Given the description of an element on the screen output the (x, y) to click on. 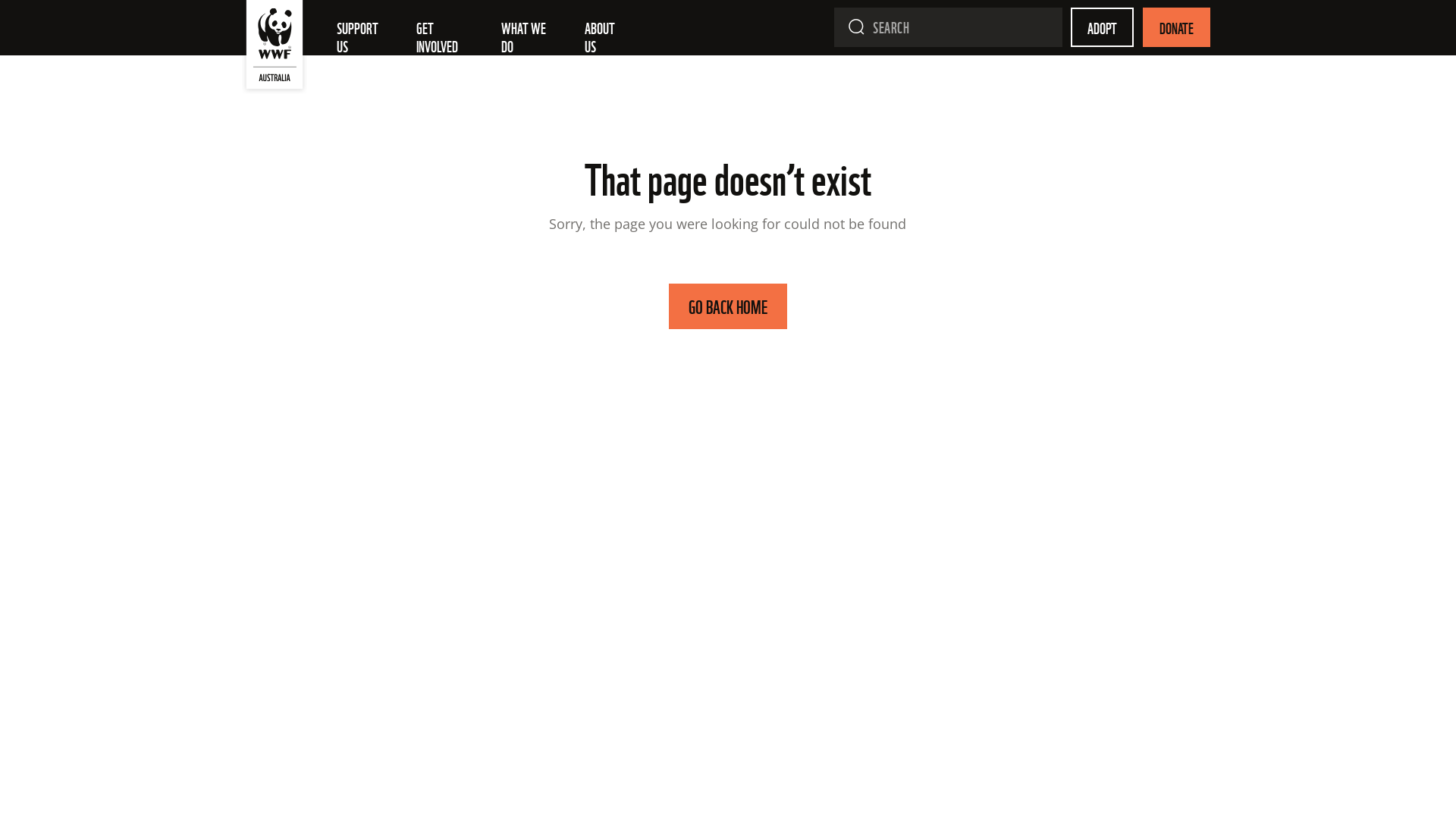
GO BACK HOME Element type: text (727, 306)
ABOUT US Element type: text (606, 36)
ADOPT Element type: text (1101, 27)
WHAT WE DO Element type: text (530, 36)
GET INVOLVED Element type: text (446, 36)
DONATE Element type: text (1176, 27)
GO BACK HOME Element type: text (727, 309)
SUPPORT US Element type: text (364, 36)
